Given the description of an element on the screen output the (x, y) to click on. 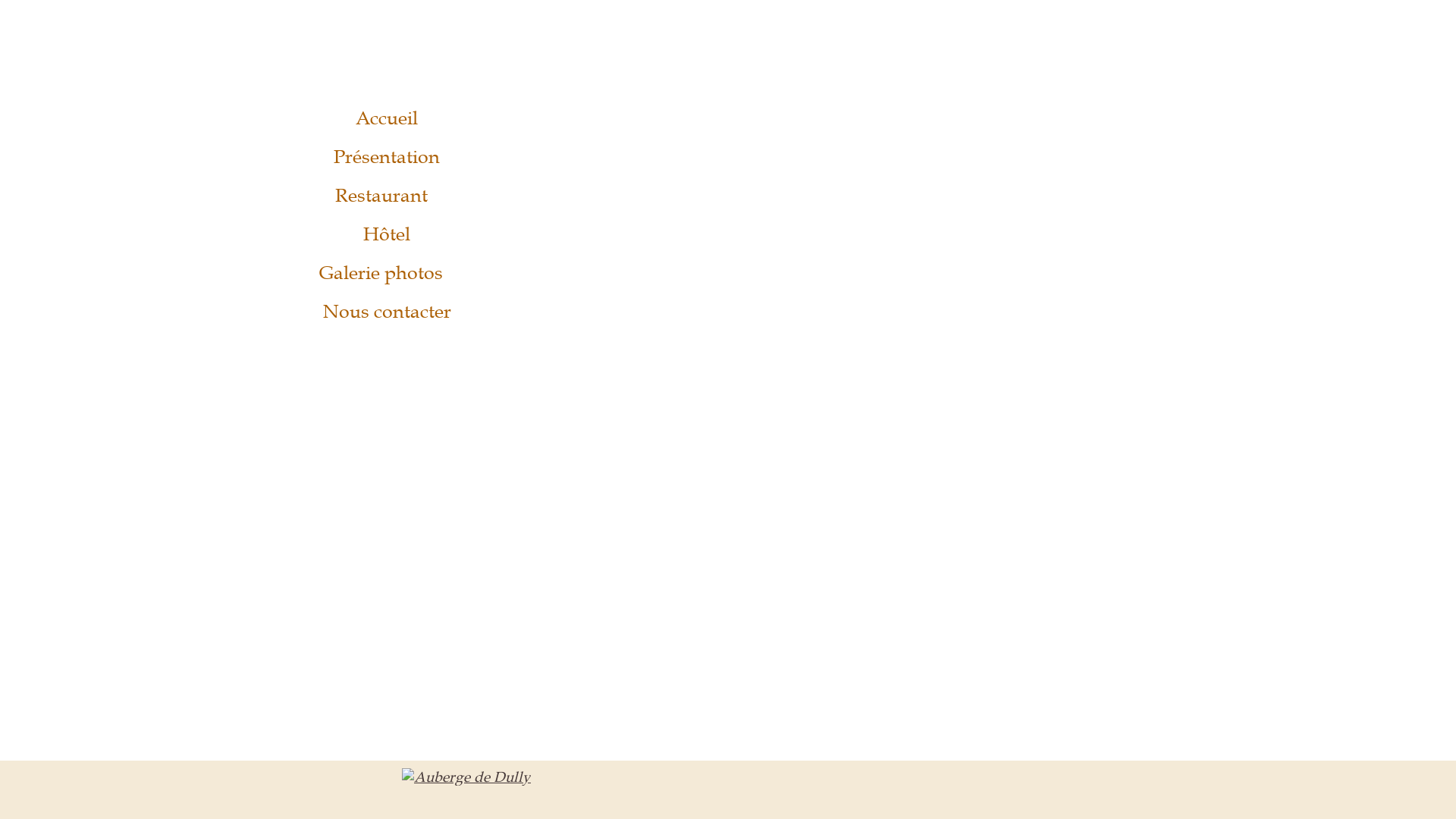
Accueil Element type: text (386, 117)
Restaurant Element type: text (386, 194)
Nous contacter Element type: text (386, 310)
Galerie photos Element type: text (386, 272)
